Given the description of an element on the screen output the (x, y) to click on. 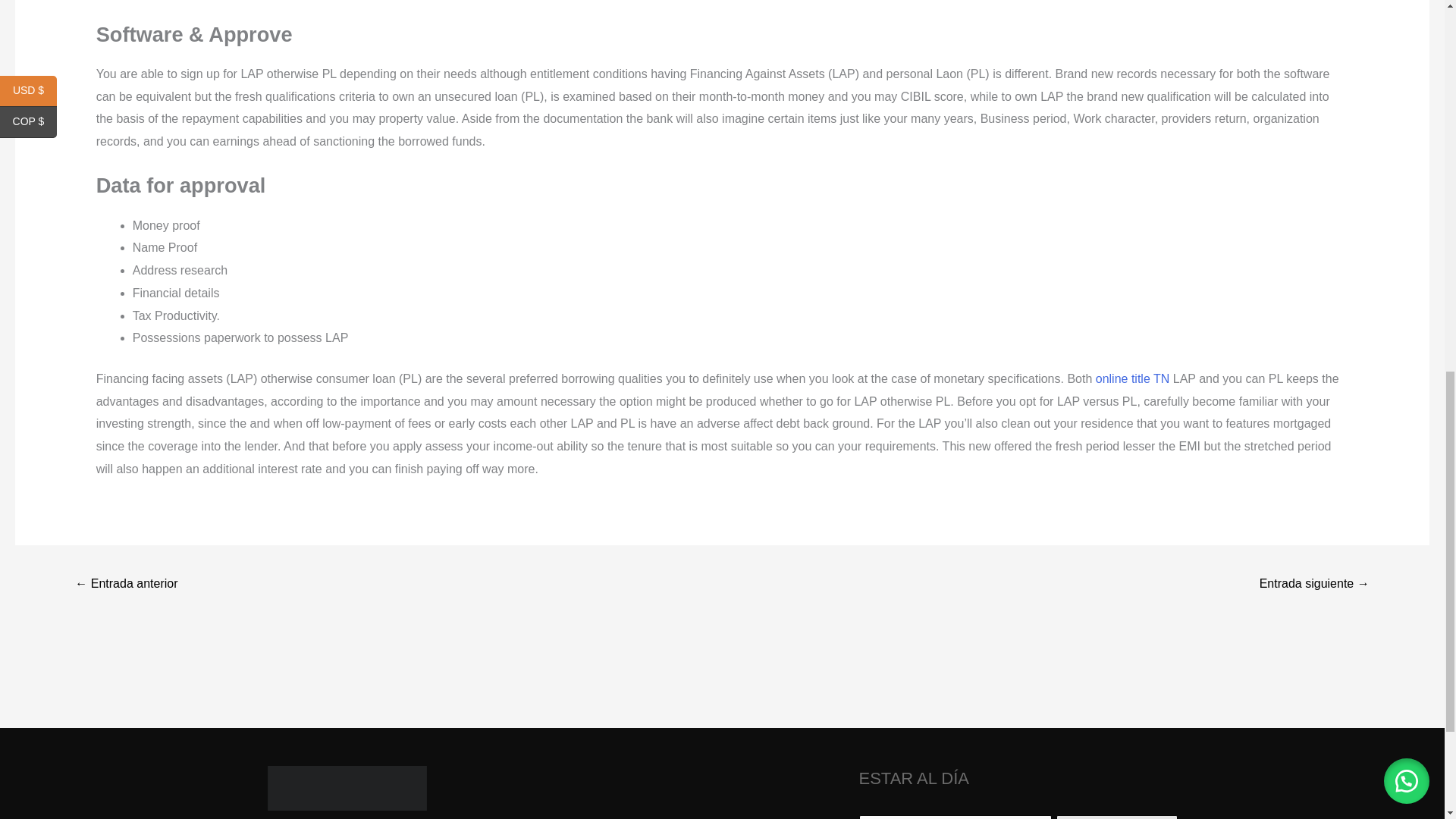
Subscribe (1115, 816)
online title TN (1133, 378)
